Given the description of an element on the screen output the (x, y) to click on. 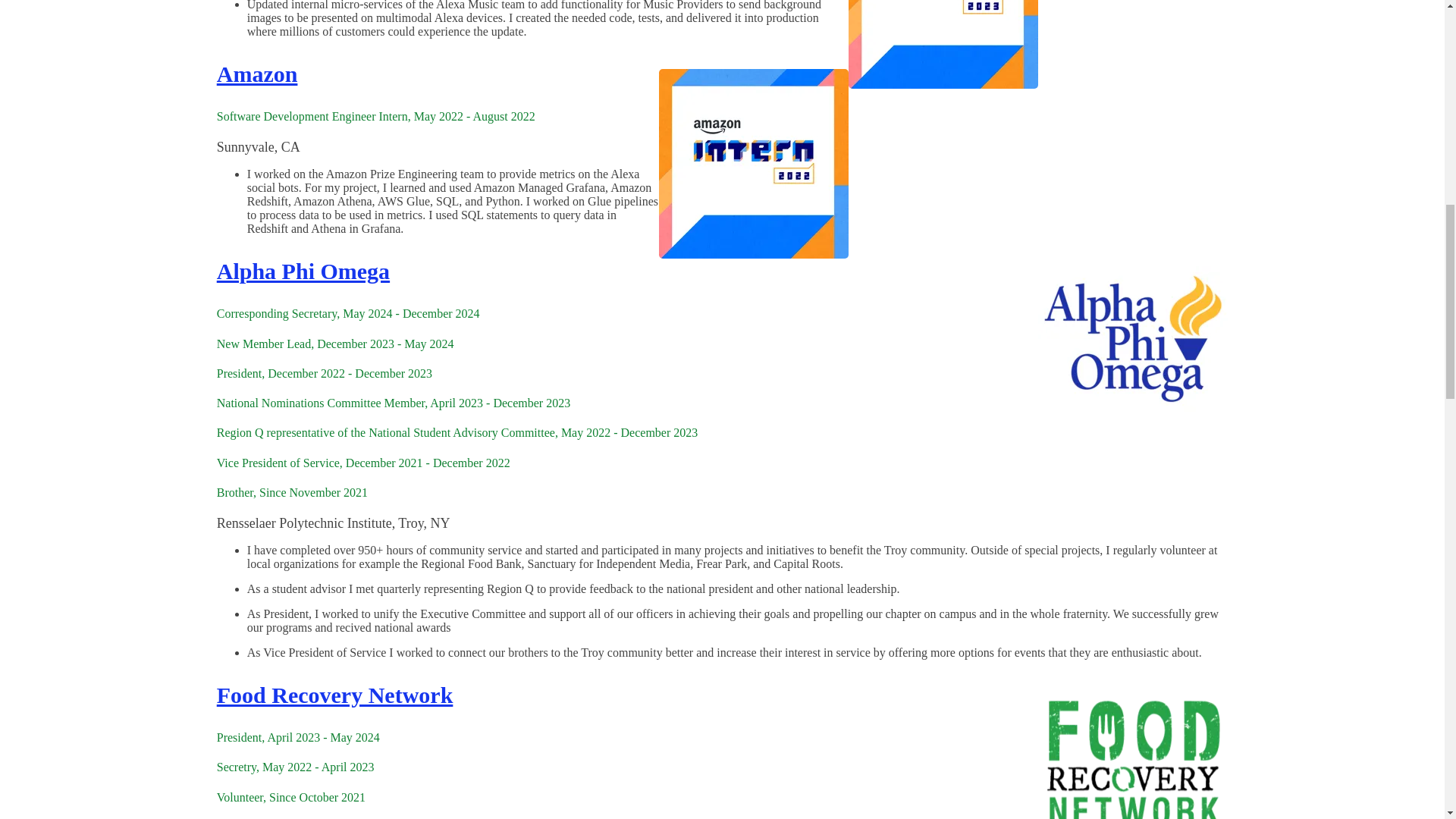
Amazon (257, 73)
Food Recovery Network (334, 694)
Alpha Phi Omega (303, 270)
